Given the description of an element on the screen output the (x, y) to click on. 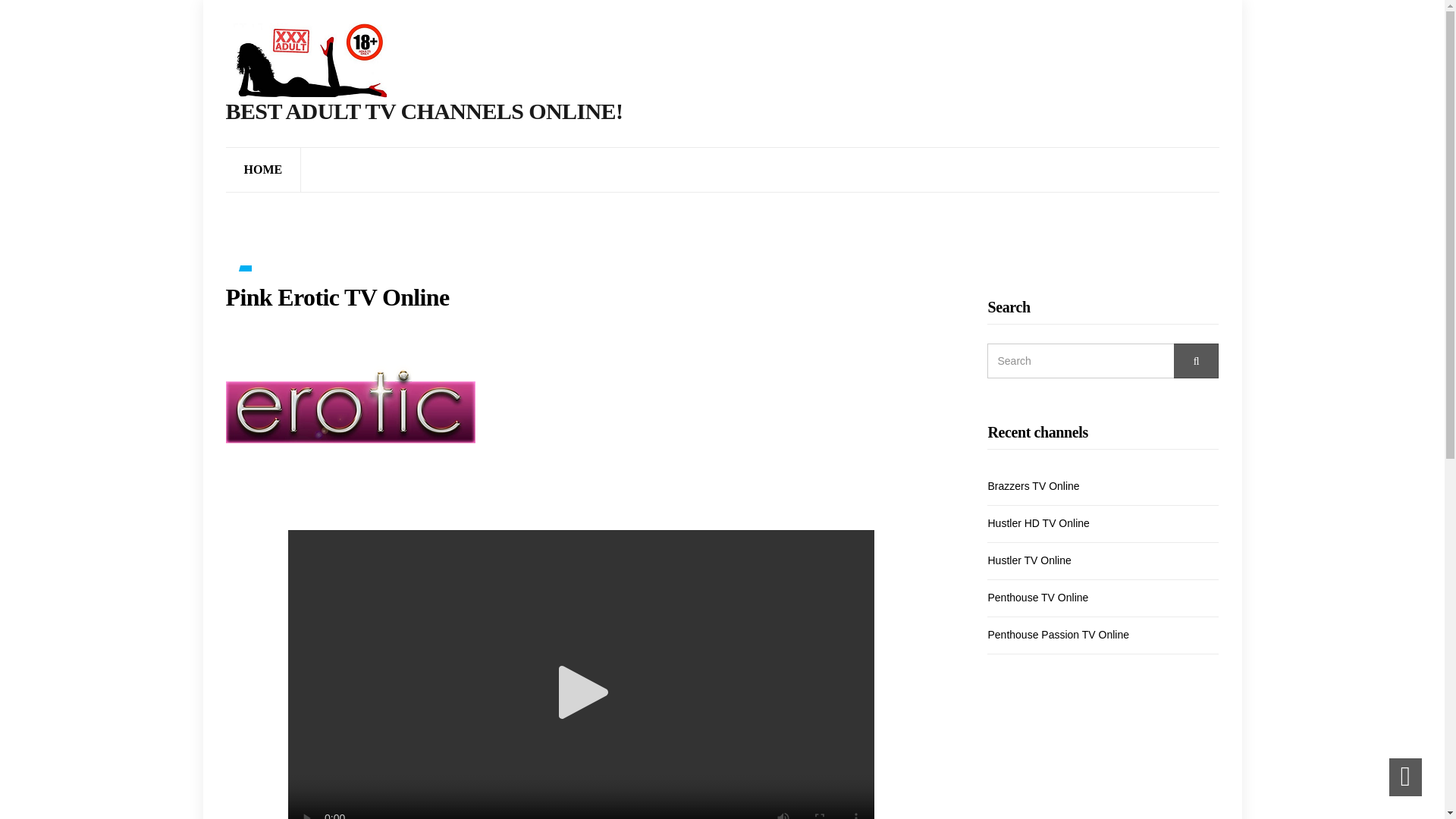
HOME (263, 169)
BEST ADULT TV CHANNELS ONLINE! (424, 110)
Hustler HD TV Online (1038, 522)
Penthouse TV Online (1037, 597)
Search (1196, 360)
Hustler TV Online (1028, 560)
Penthouse Passion TV Online (1058, 634)
Brazzers TV Online (1032, 485)
